Given the description of an element on the screen output the (x, y) to click on. 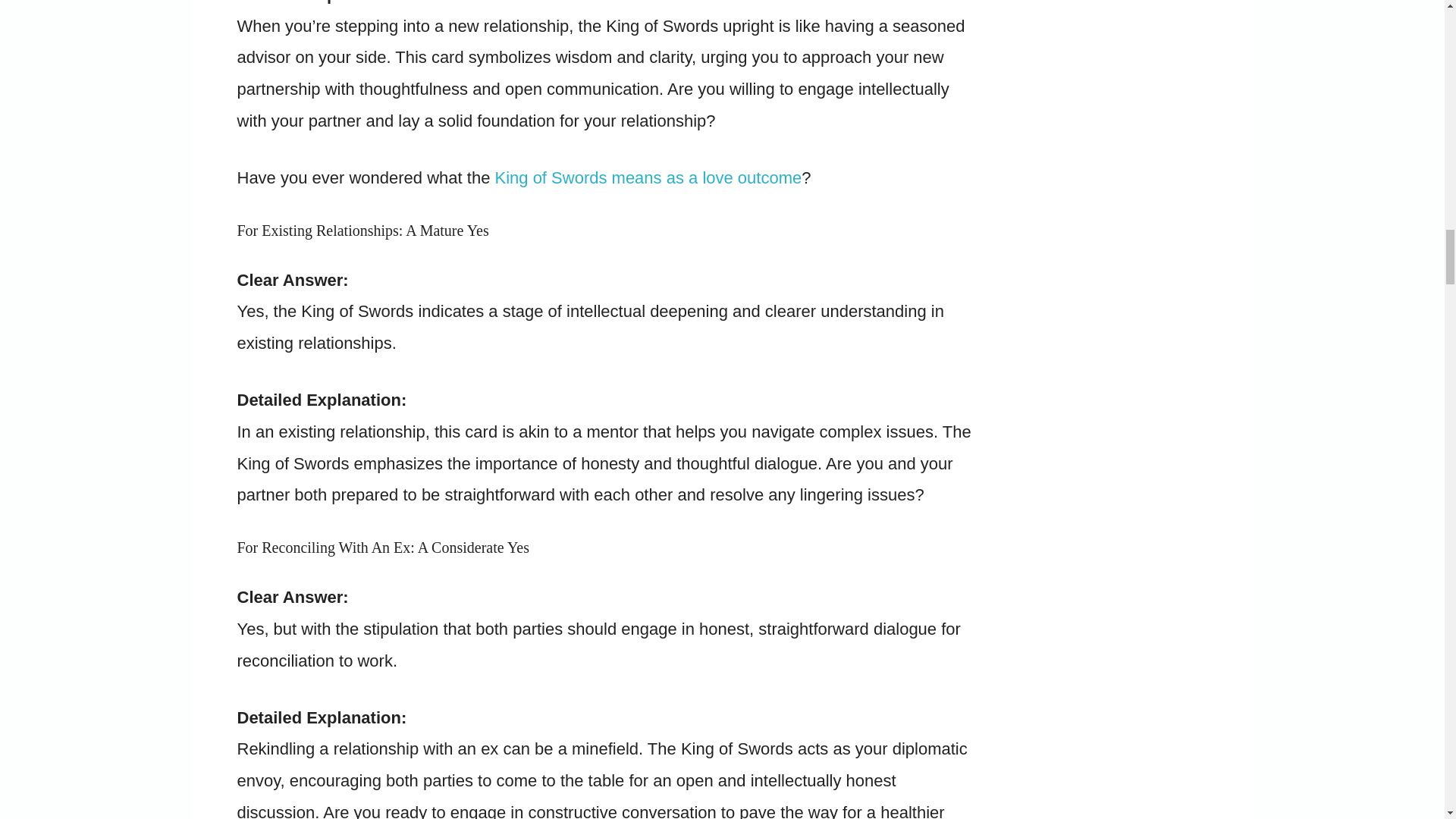
King of Swords means as a love outcome (648, 177)
